Given the description of an element on the screen output the (x, y) to click on. 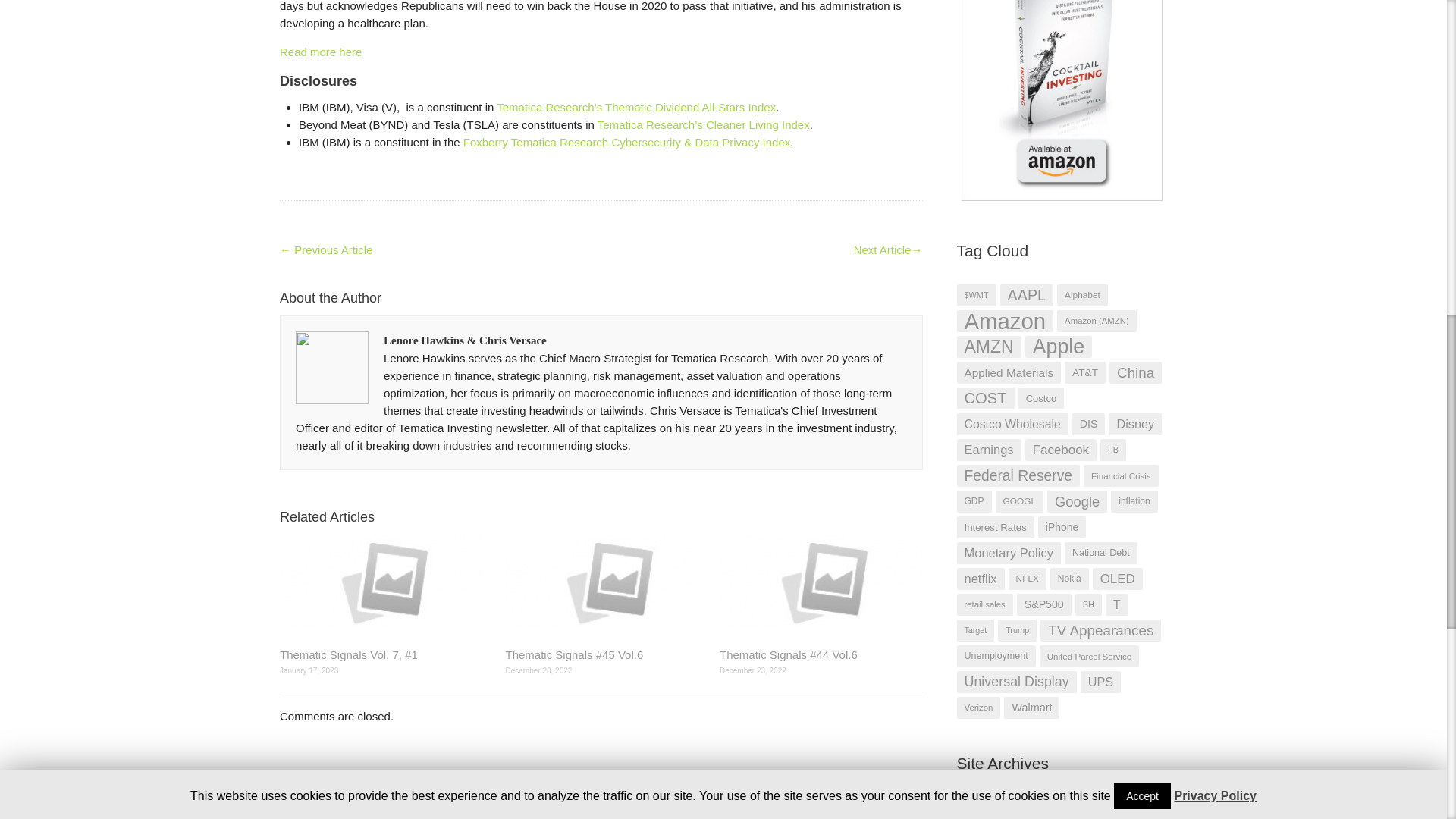
Read more here (320, 51)
